Given the description of an element on the screen output the (x, y) to click on. 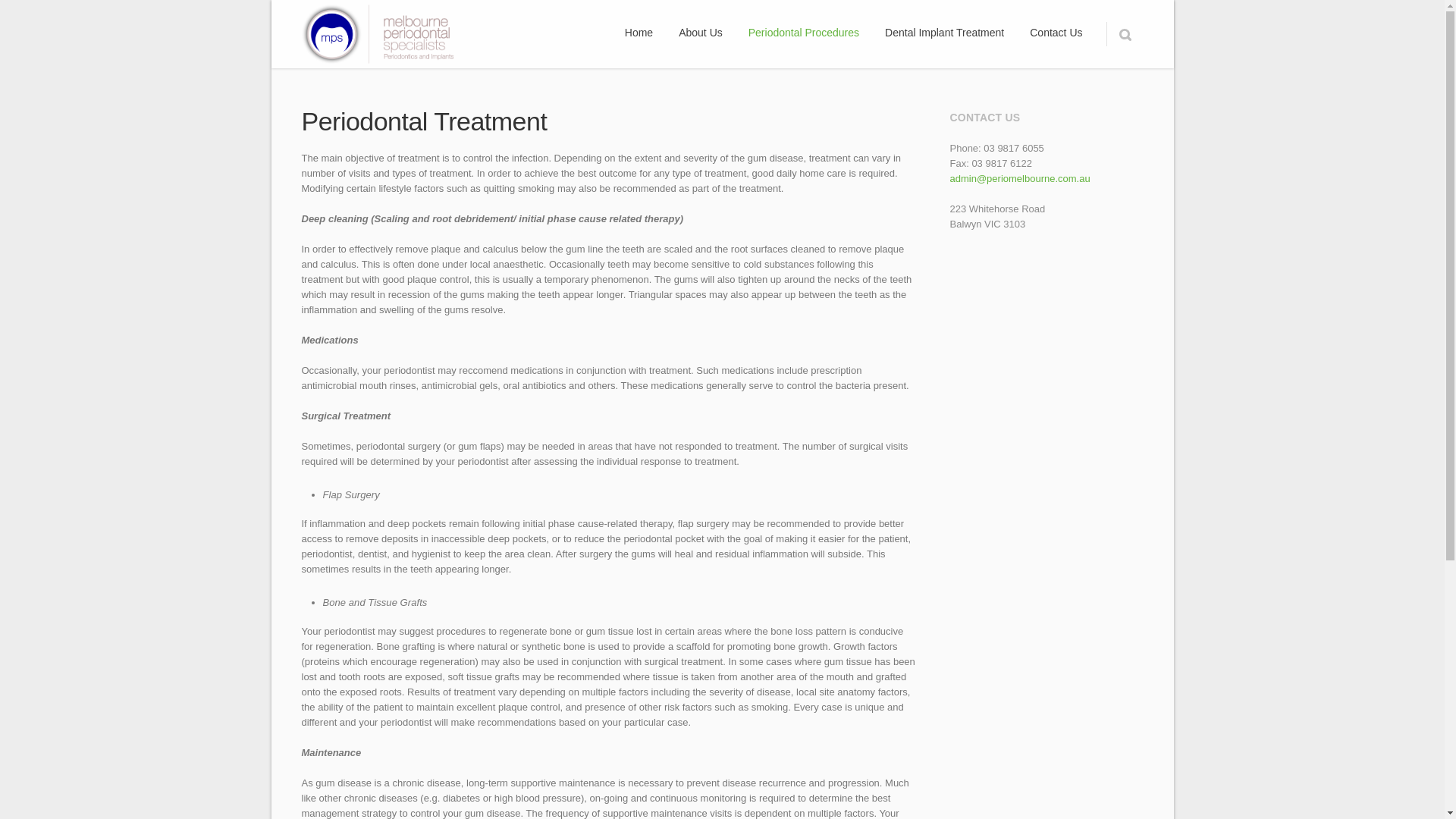
Periodontal Procedures (803, 33)
Dental Implant Treatment (944, 33)
Search (1123, 33)
